Given the description of an element on the screen output the (x, y) to click on. 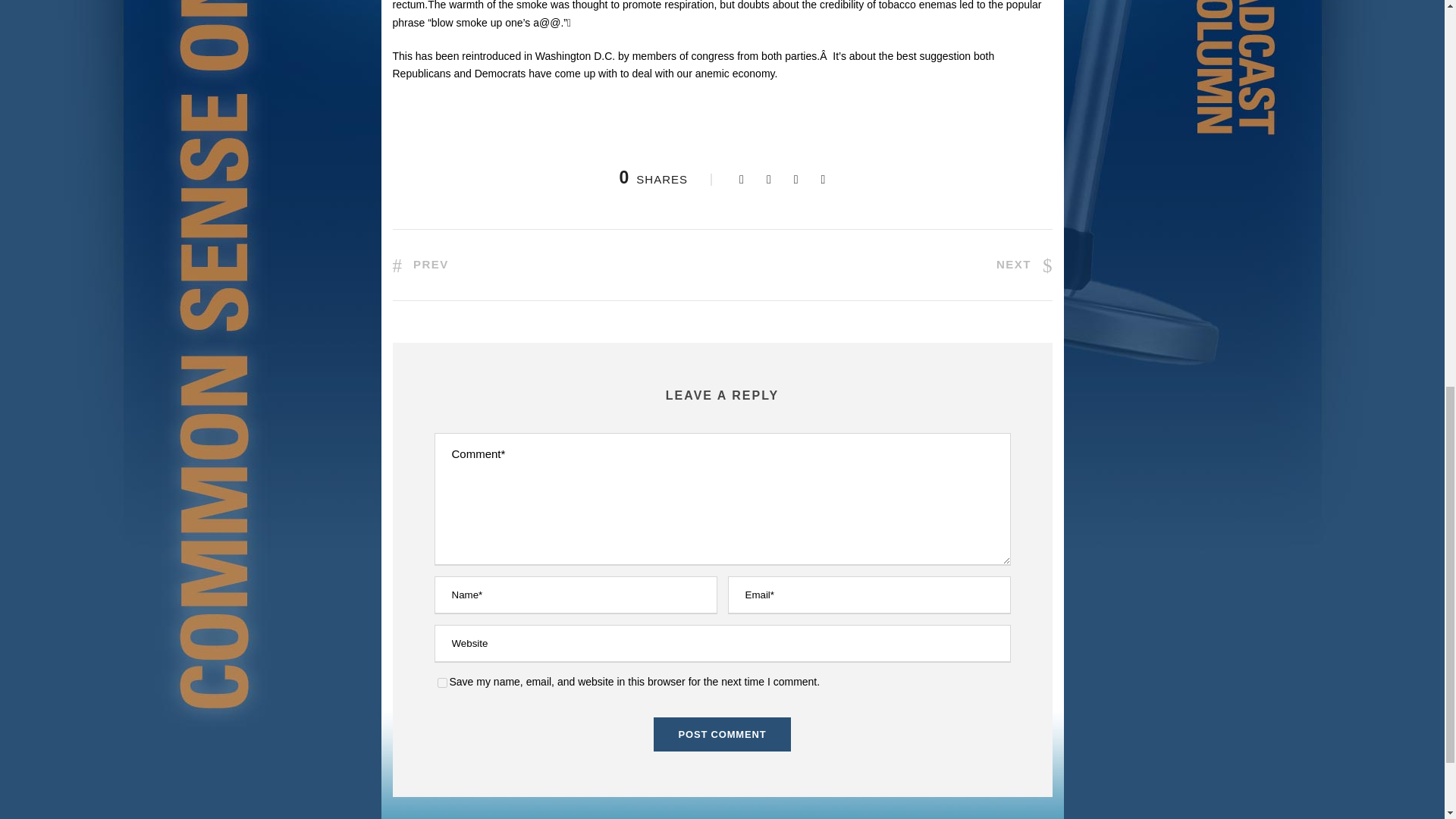
yes (441, 682)
Post Comment (722, 734)
PREV (420, 264)
NEXT (1023, 264)
Post Comment (722, 734)
